Given the description of an element on the screen output the (x, y) to click on. 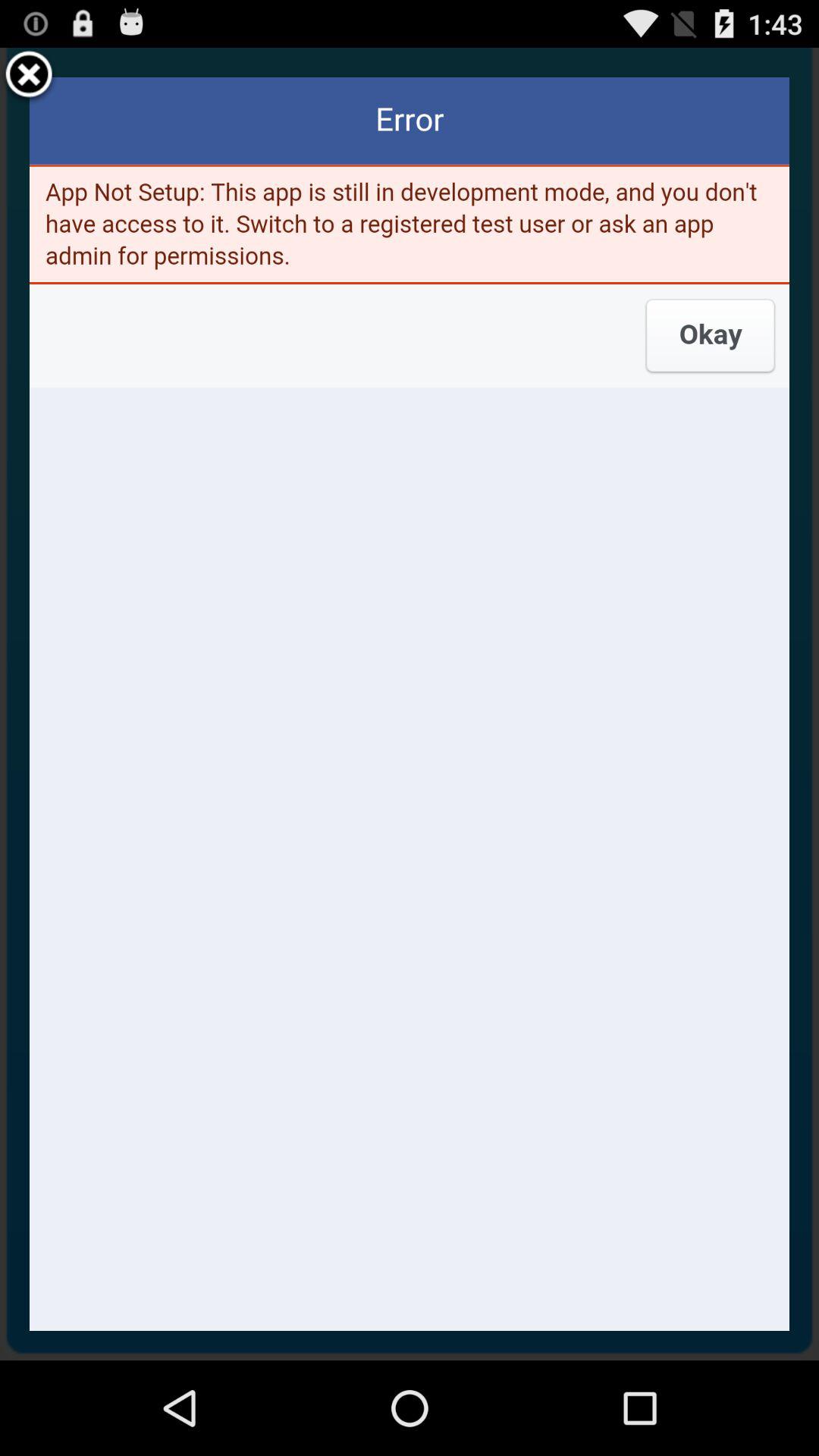
close window (29, 76)
